Given the description of an element on the screen output the (x, y) to click on. 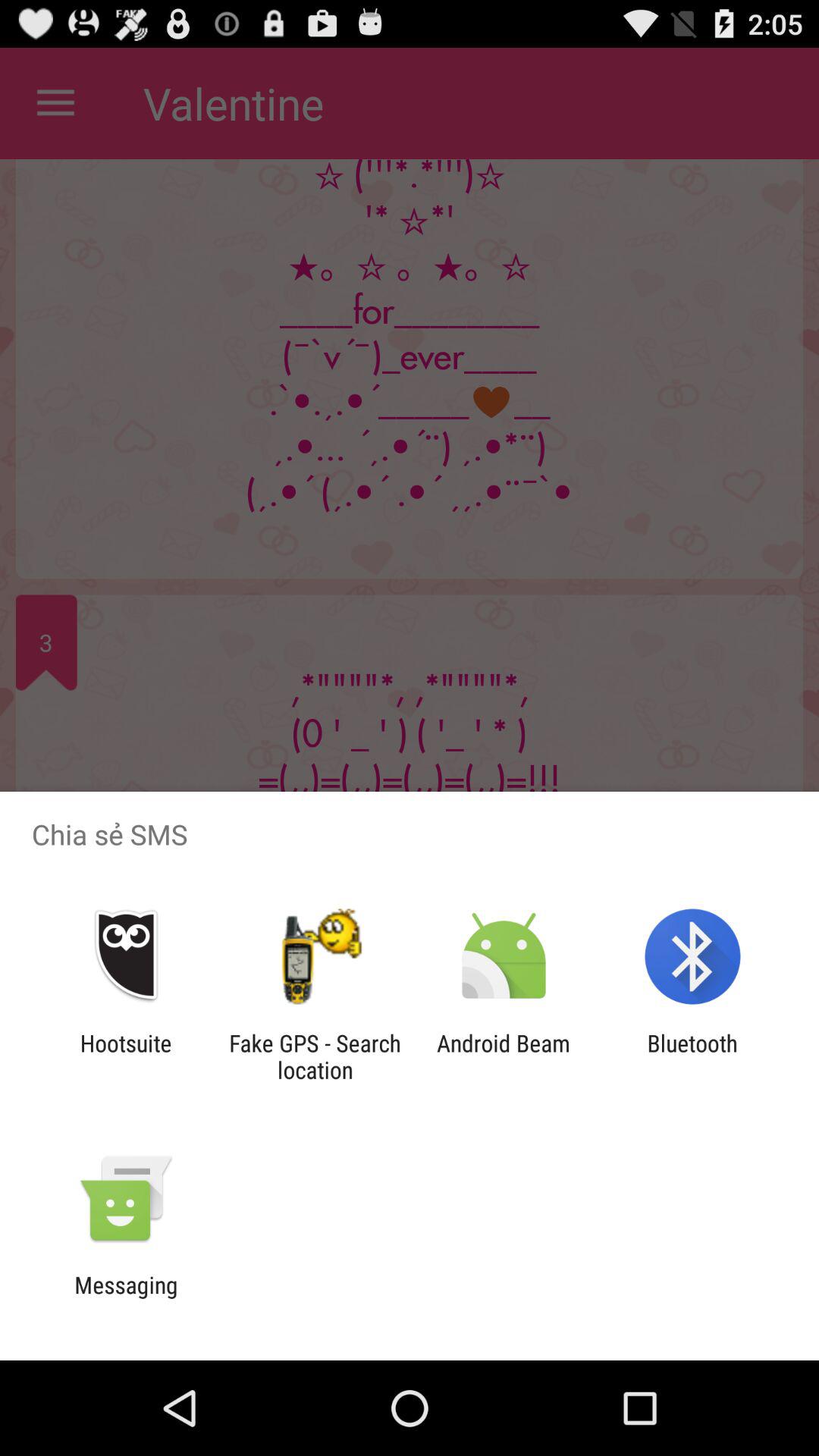
choose the app next to android beam (314, 1056)
